Given the description of an element on the screen output the (x, y) to click on. 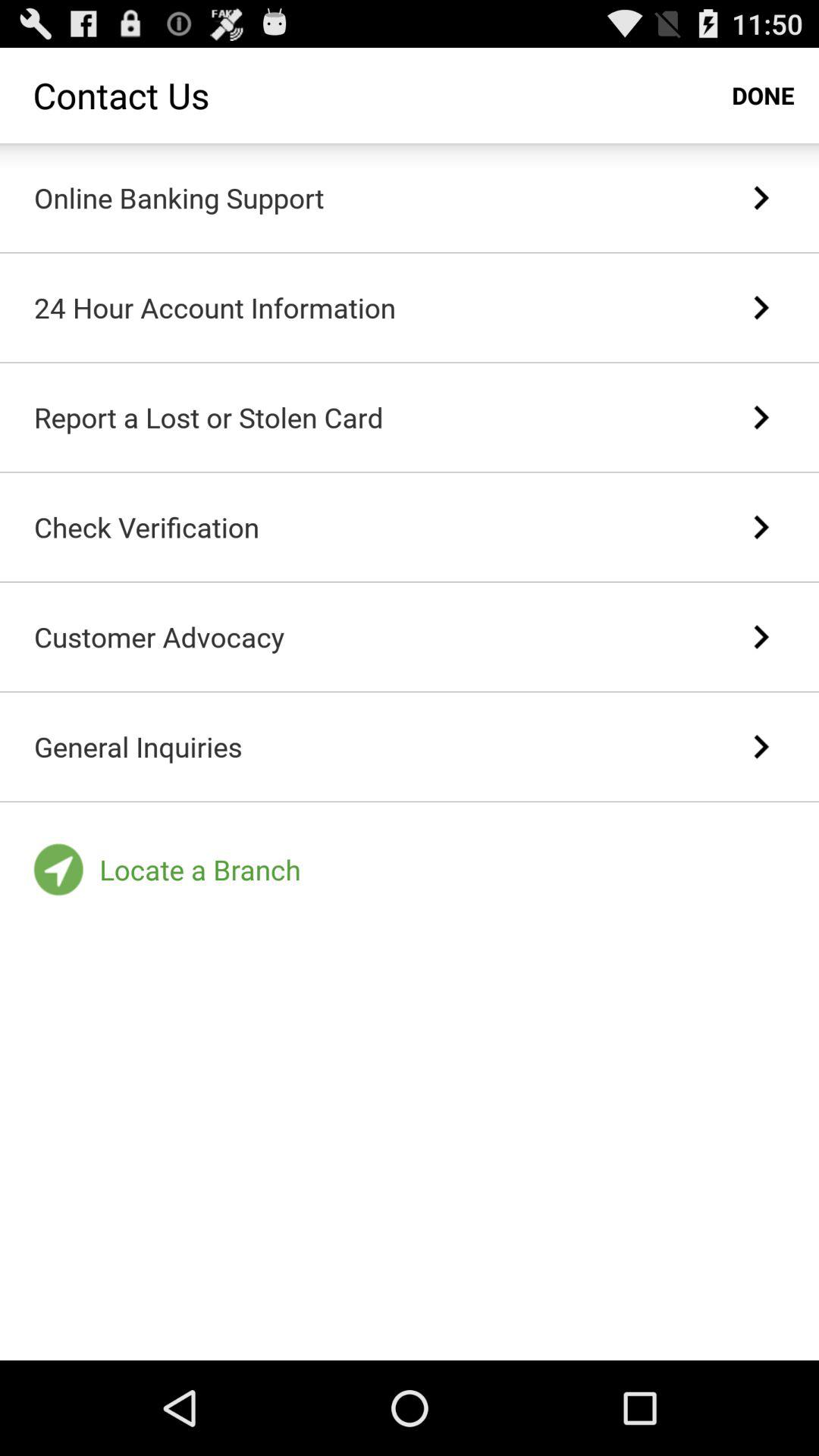
tap the item to the right of the report a lost icon (760, 417)
